Given the description of an element on the screen output the (x, y) to click on. 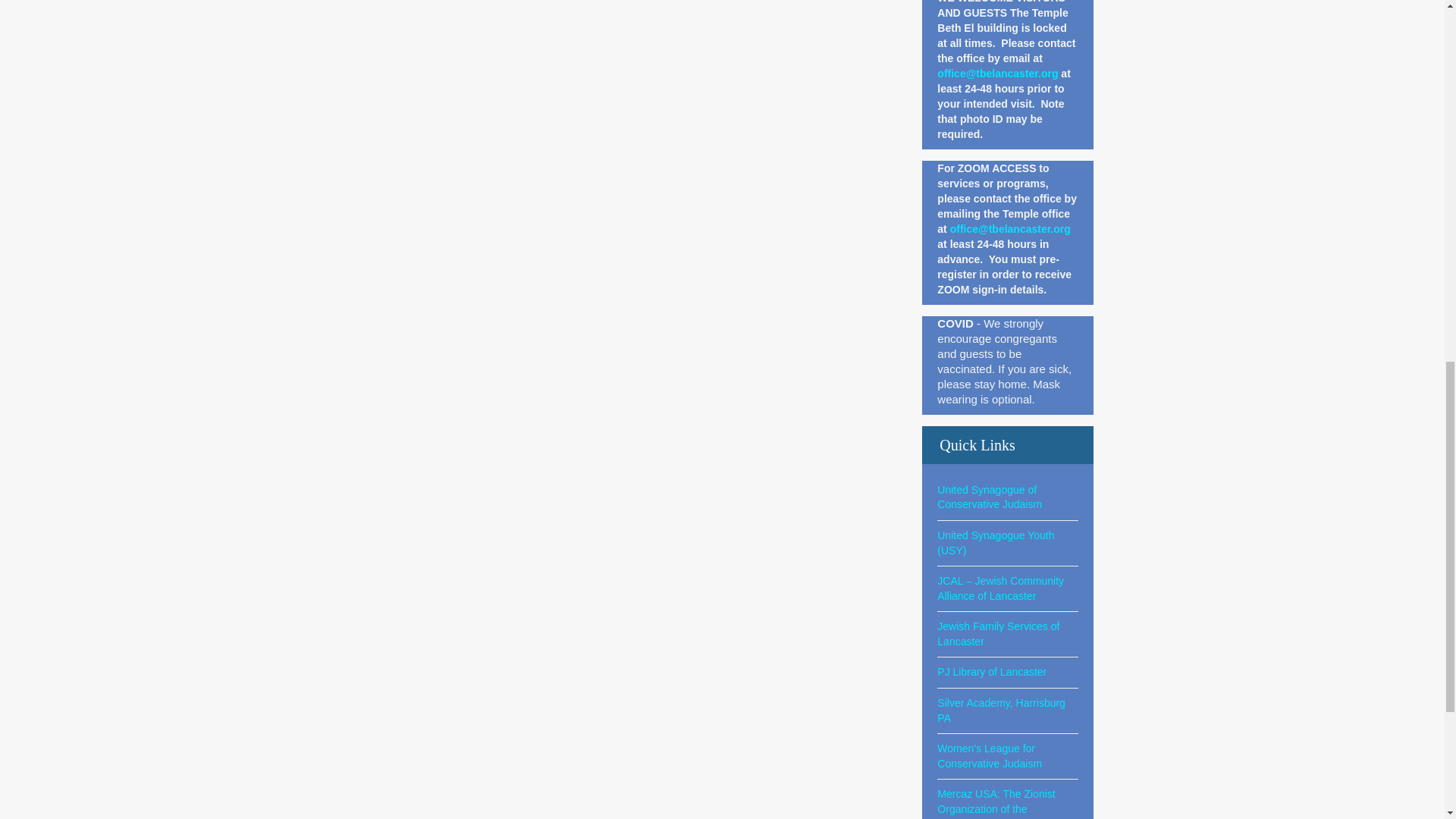
United Synagogue of Conservative Judaism (989, 497)
Silver Academy, Harrisburg PA (1001, 709)
PJ Library of Lancaster (991, 671)
Jewish Family Services of Lancaster (998, 633)
